Given the description of an element on the screen output the (x, y) to click on. 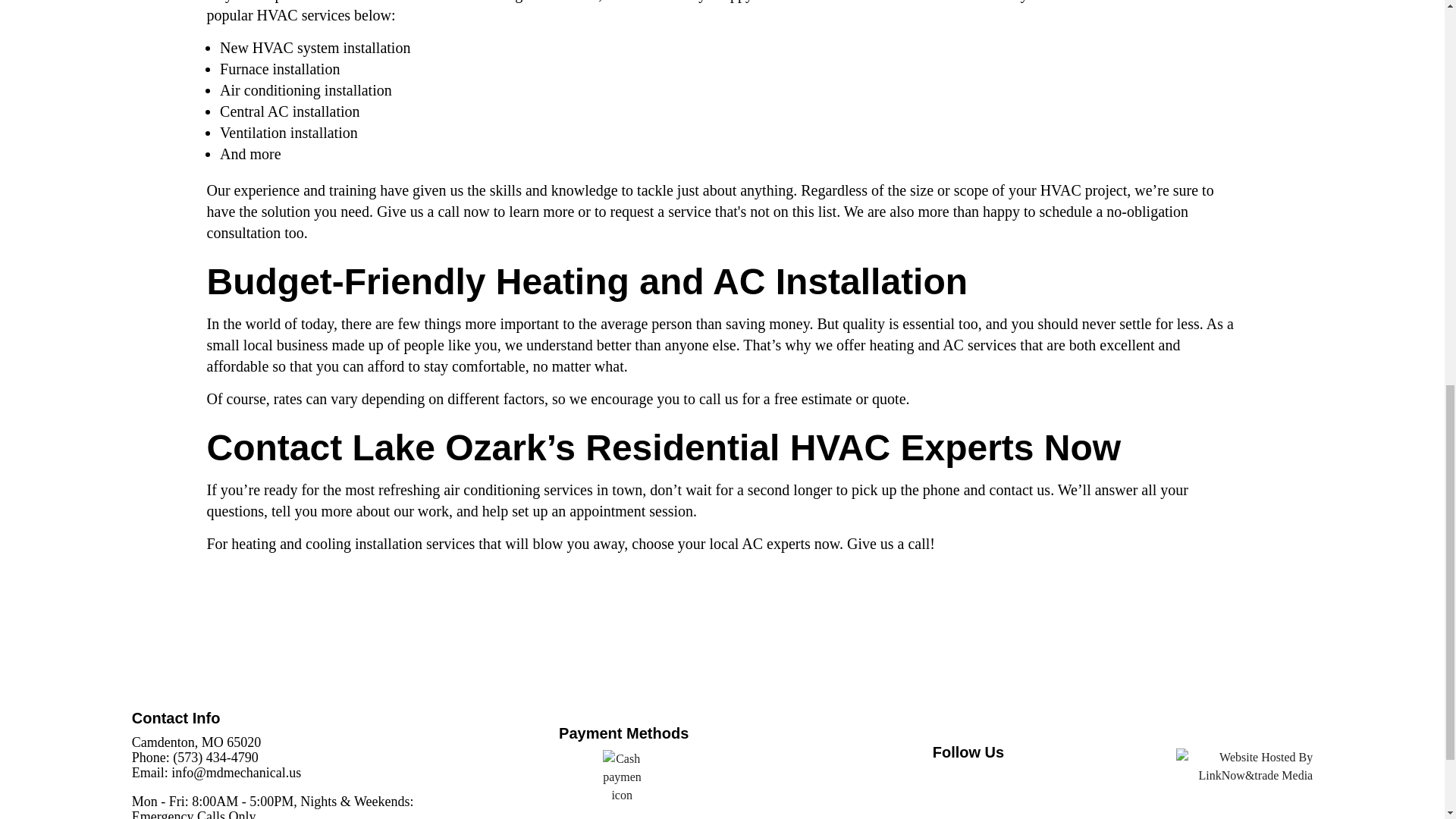
Cash (621, 777)
